Given the description of an element on the screen output the (x, y) to click on. 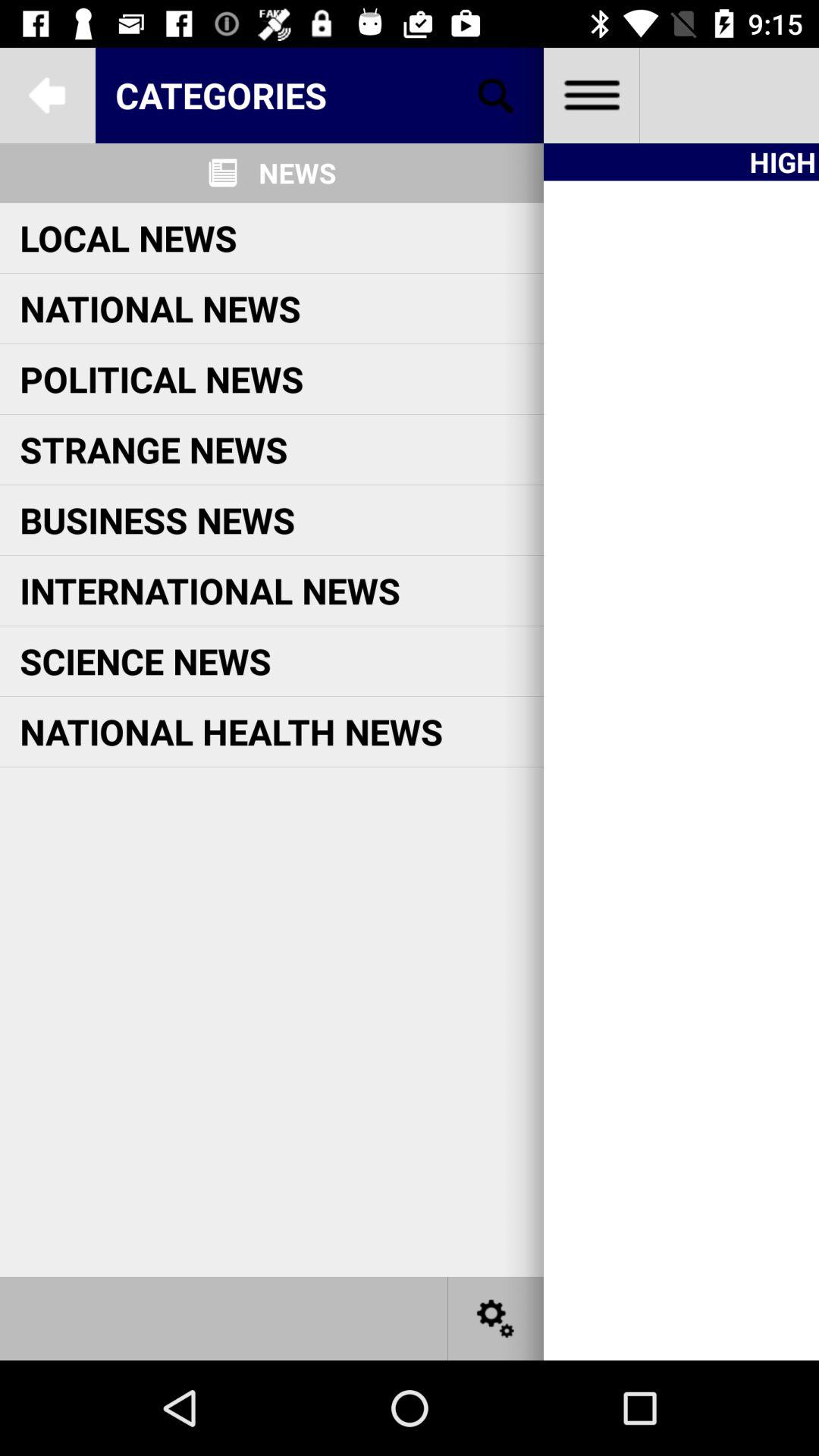
make a selection (495, 95)
